Given the description of an element on the screen output the (x, y) to click on. 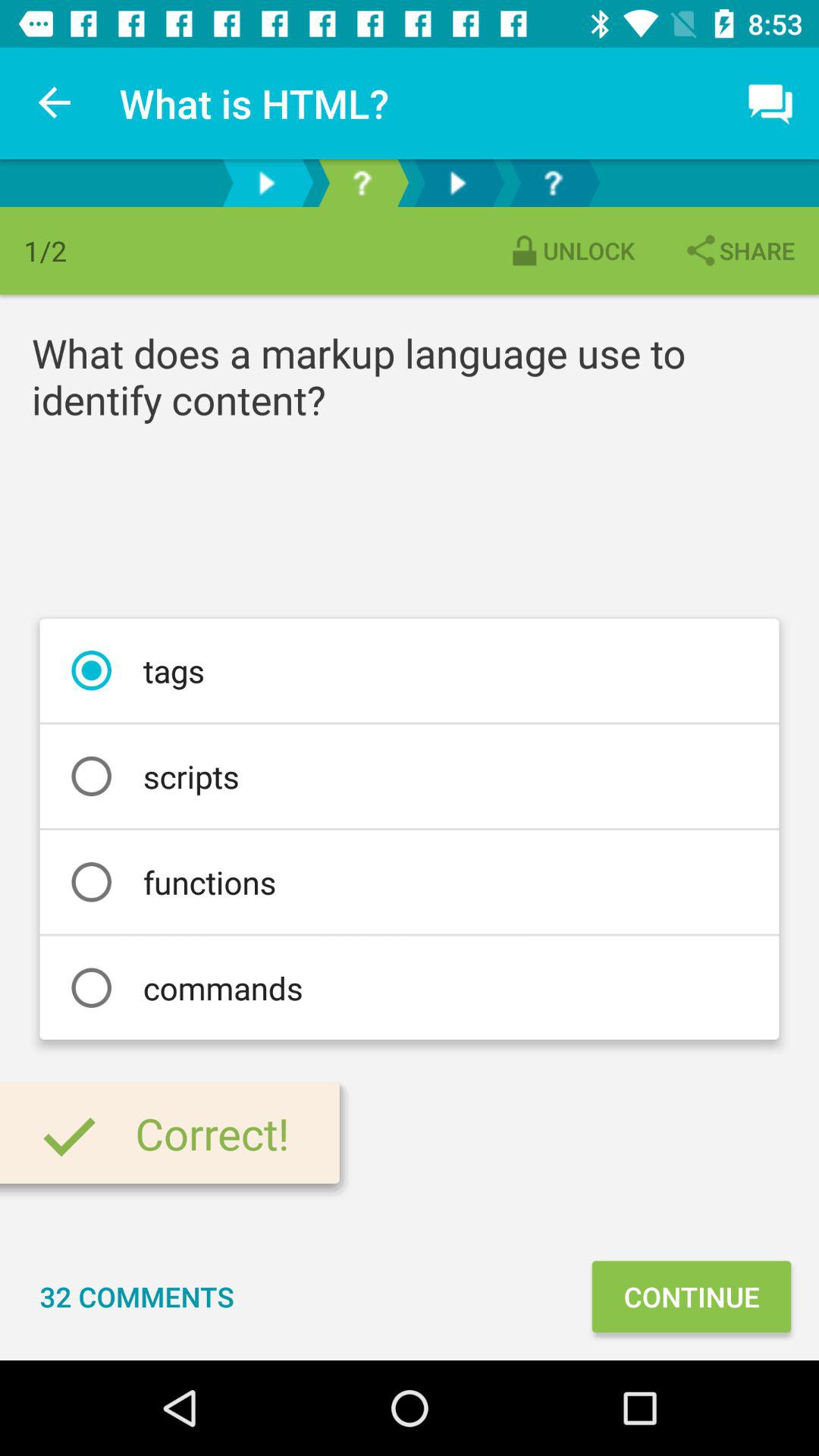
go forward (265, 183)
